Given the description of an element on the screen output the (x, y) to click on. 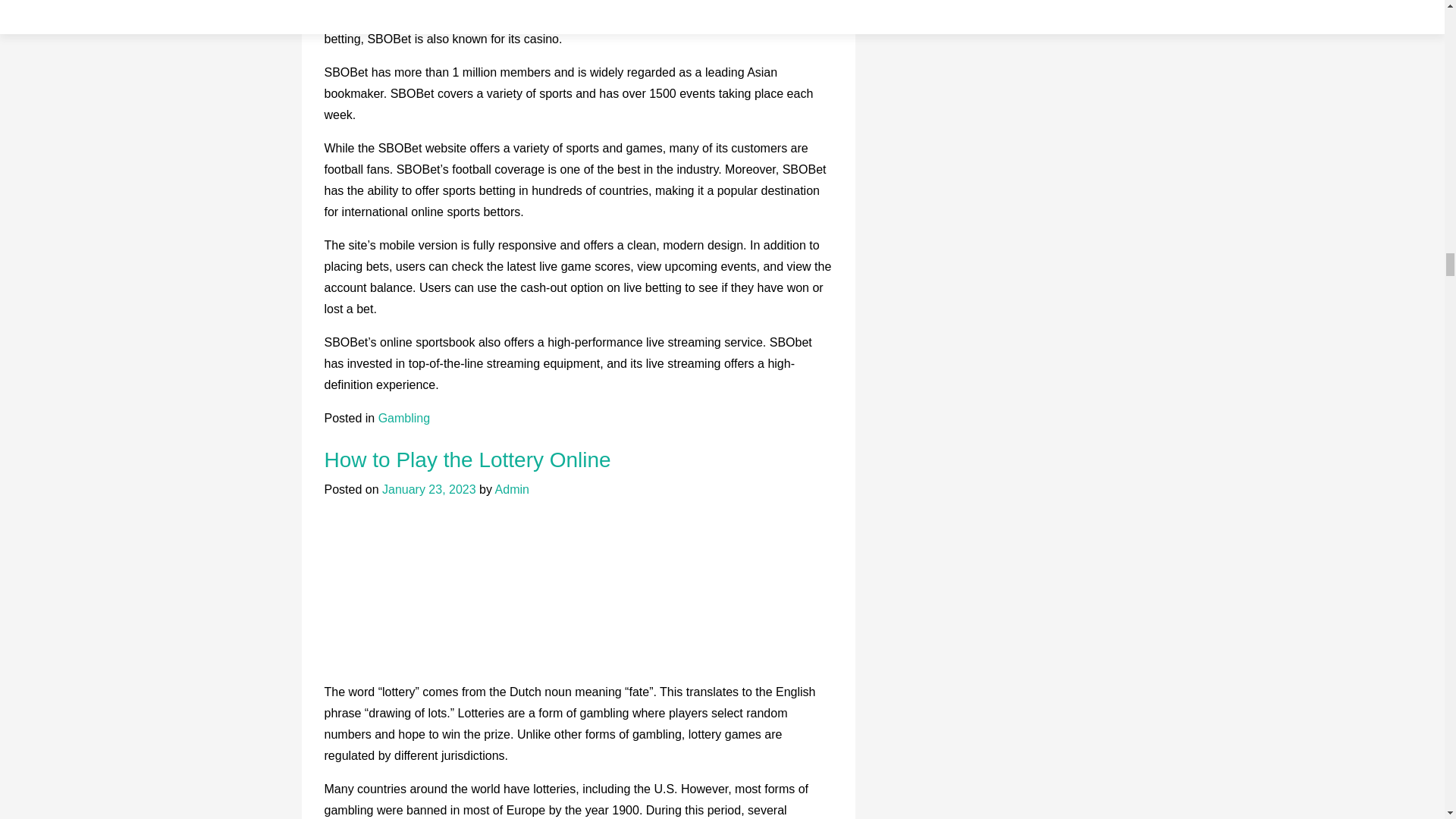
How to Play the Lottery Online (467, 459)
Admin (512, 489)
Gambling (403, 418)
January 23, 2023 (428, 489)
